Given the description of an element on the screen output the (x, y) to click on. 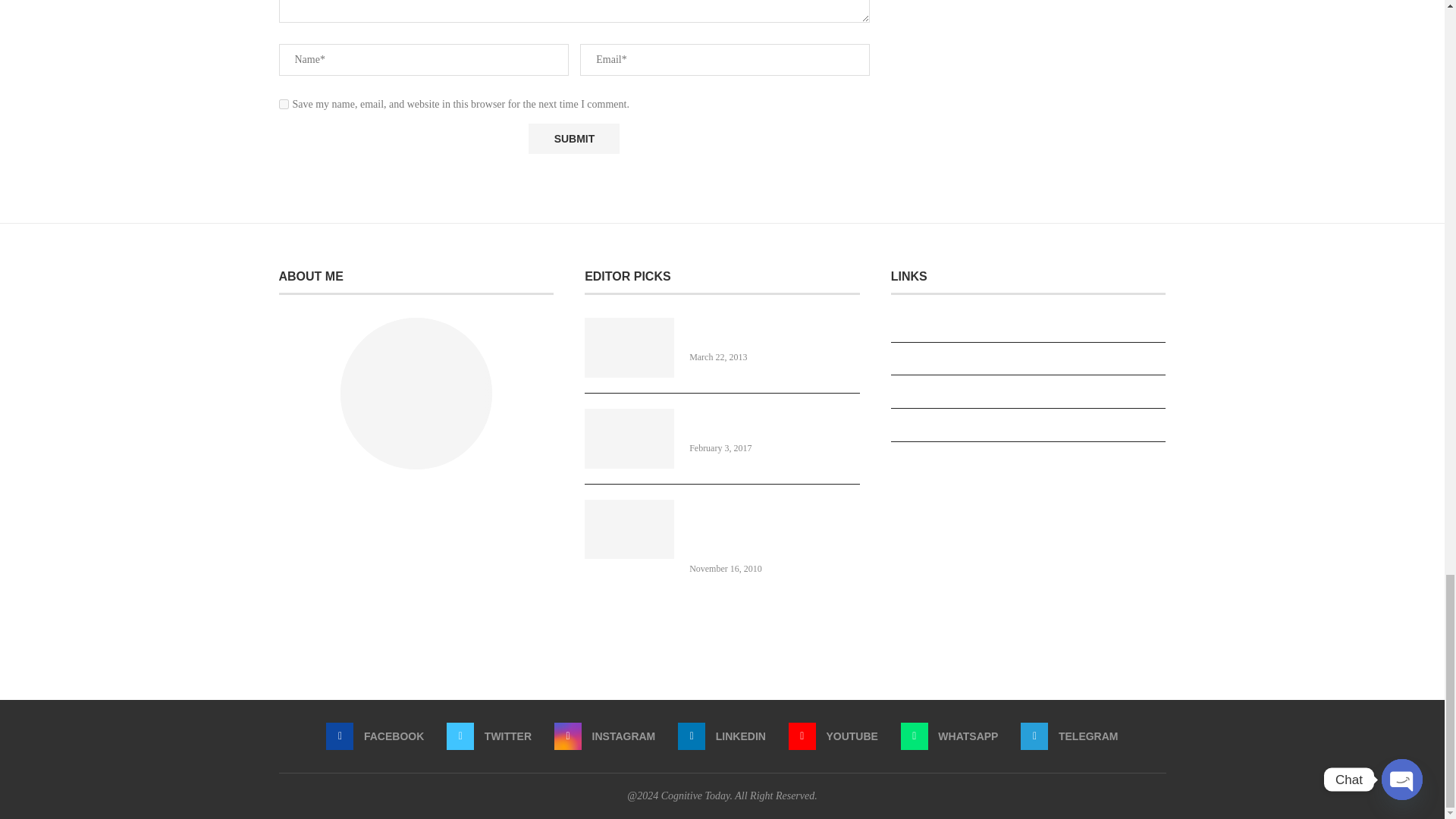
Submit (574, 138)
yes (283, 103)
